Given the description of an element on the screen output the (x, y) to click on. 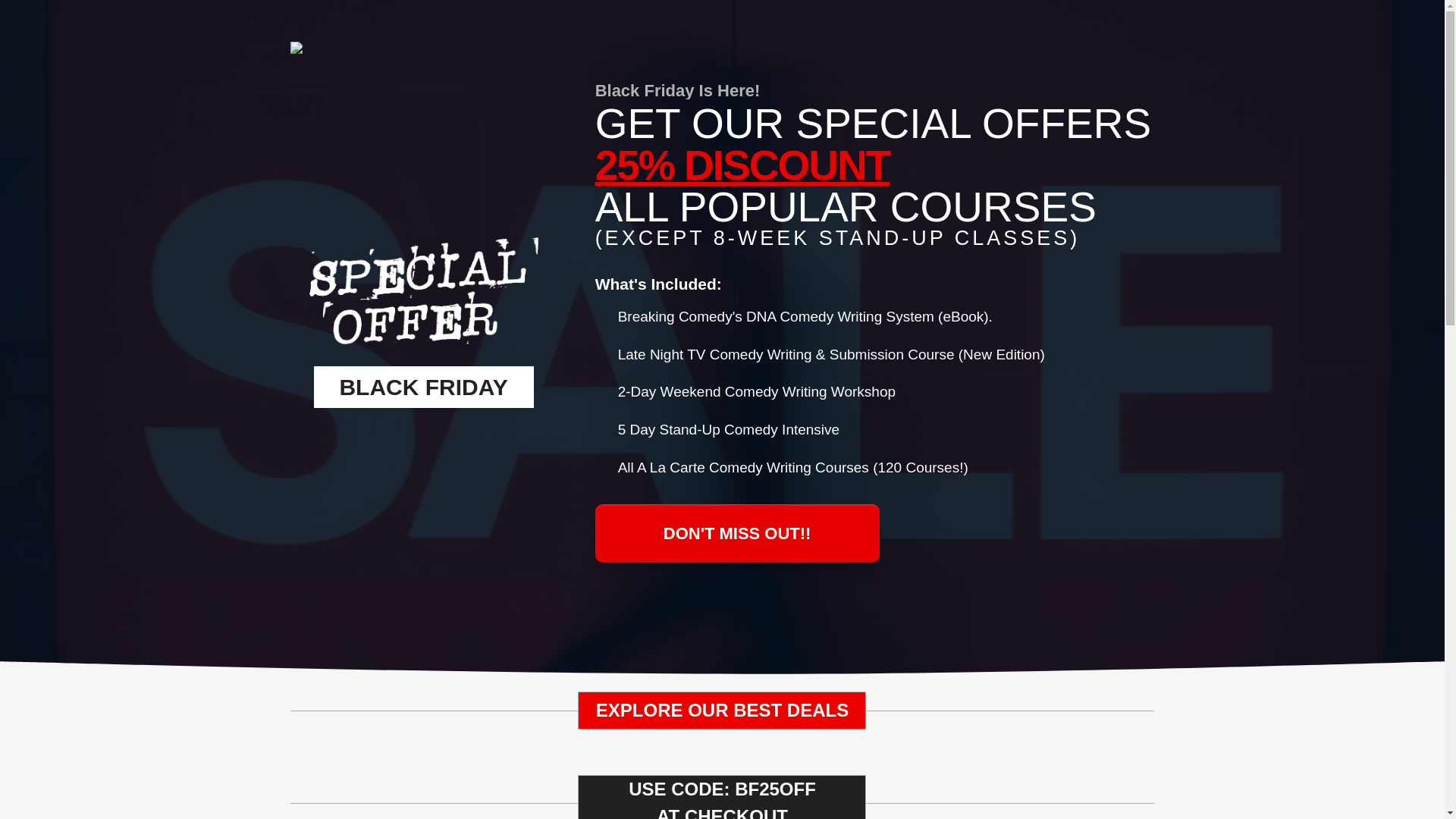
special-offer-stamp (423, 290)
DON'T MISS OUT!! (737, 533)
logo (369, 50)
